Given the description of an element on the screen output the (x, y) to click on. 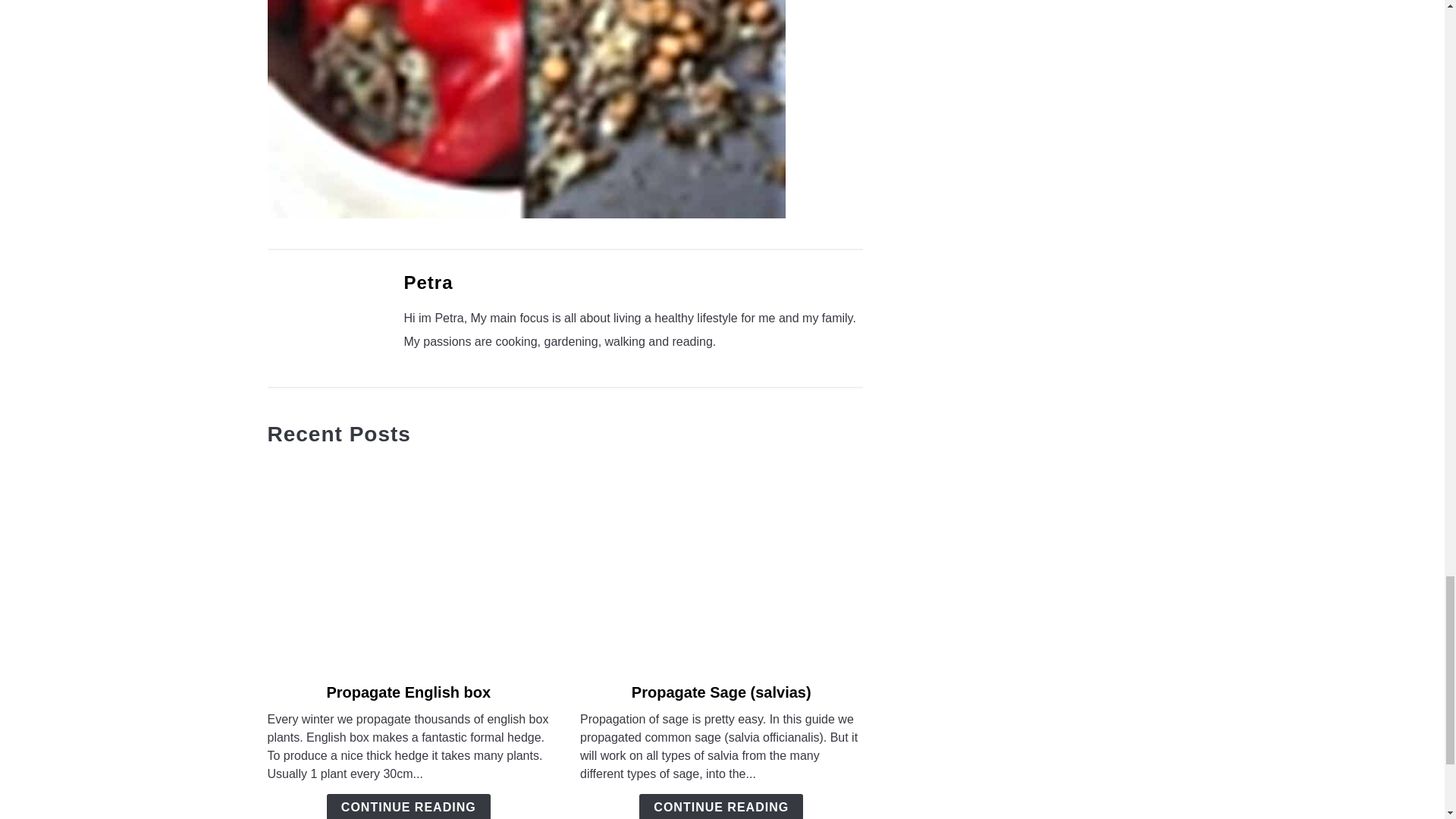
CONTINUE READING (721, 806)
Propagate English box (408, 692)
Petra (427, 281)
CONTINUE READING (408, 806)
link to Propagate English box (408, 564)
